Given the description of an element on the screen output the (x, y) to click on. 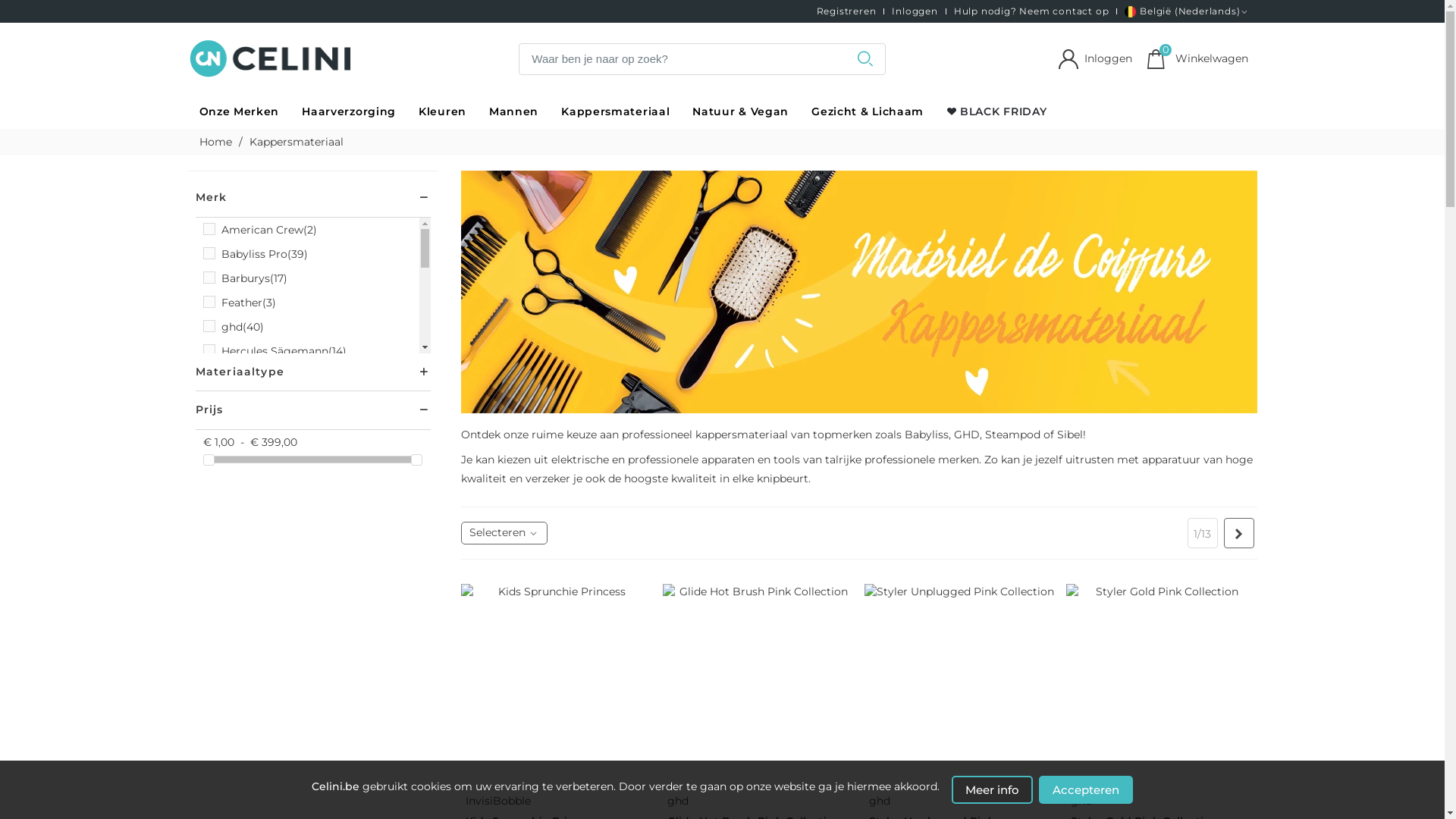
Panasonic(3) Element type: text (255, 495)
American Crew(2) Element type: text (268, 228)
Kleuren Element type: text (442, 111)
Tangle Teezer(20) Element type: text (267, 544)
Original!(14) Element type: text (253, 471)
ghd(40) Element type: text (242, 325)
Olivia Garden(55) Element type: text (267, 447)
Onze Merken Element type: text (239, 111)
Hulp nodig? Neem contact op Element type: text (1031, 11)
Kids Sprunchie Princess Element type: hover (555, 691)
BLACK FRIDAY Element type: text (996, 111)
Barburys(17) Element type: text (254, 277)
Inloggen Element type: text (1094, 58)
Accepteren Element type: text (1085, 789)
Volgende Element type: text (1238, 532)
InvisiBobble(14) Element type: text (262, 374)
Styler Unplugged Pink Collection Element type: hover (959, 691)
Inloggen Element type: text (914, 11)
Home Element type: text (216, 141)
Feather(3) Element type: text (248, 301)
0
Winkelwagen Element type: text (1197, 58)
Sibel(8) Element type: text (241, 520)
Selecteren Element type: text (503, 532)
Gezicht & Lichaam Element type: text (867, 111)
Natuur & Vegan Element type: text (740, 111)
Meer info Element type: text (991, 789)
Wahl(44) Element type: text (245, 592)
Mannen Element type: text (513, 111)
Babyliss Pro(39) Element type: text (264, 253)
Kappersmateriaal Element type: text (614, 111)
Ultron(14) Element type: text (247, 568)
Celini Element type: hover (271, 58)
1/13 Element type: text (1202, 532)
Haarverzorging Element type: text (348, 111)
Moser(17) Element type: text (246, 423)
Registreren Element type: text (846, 11)
Glide Hot Brush Pink Collection Element type: hover (757, 691)
Styler Gold Pink Collection Element type: hover (1160, 691)
